Given the description of an element on the screen output the (x, y) to click on. 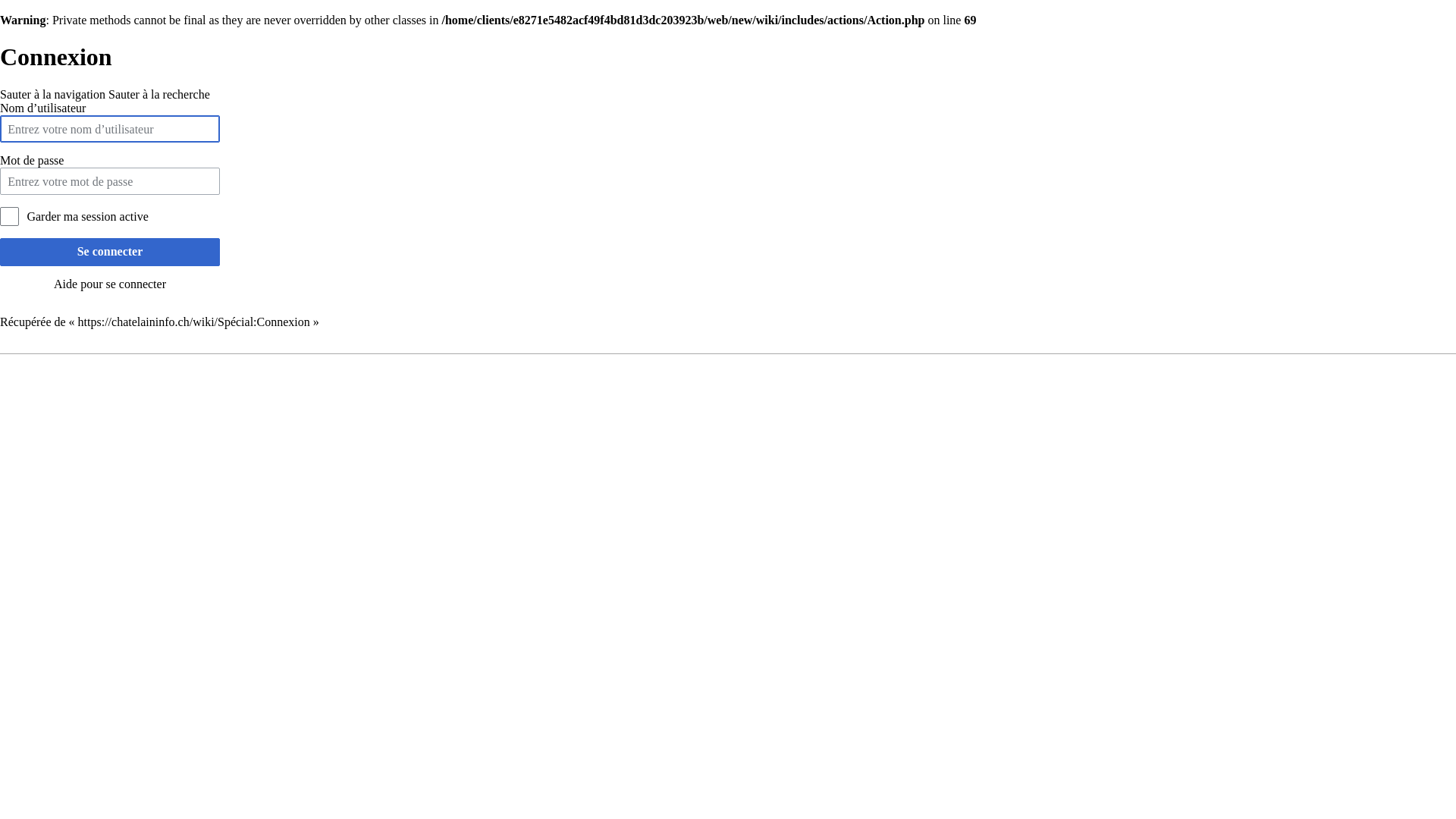
Se connecter Element type: text (109, 251)
Aide pour se connecter Element type: text (109, 283)
